Given the description of an element on the screen output the (x, y) to click on. 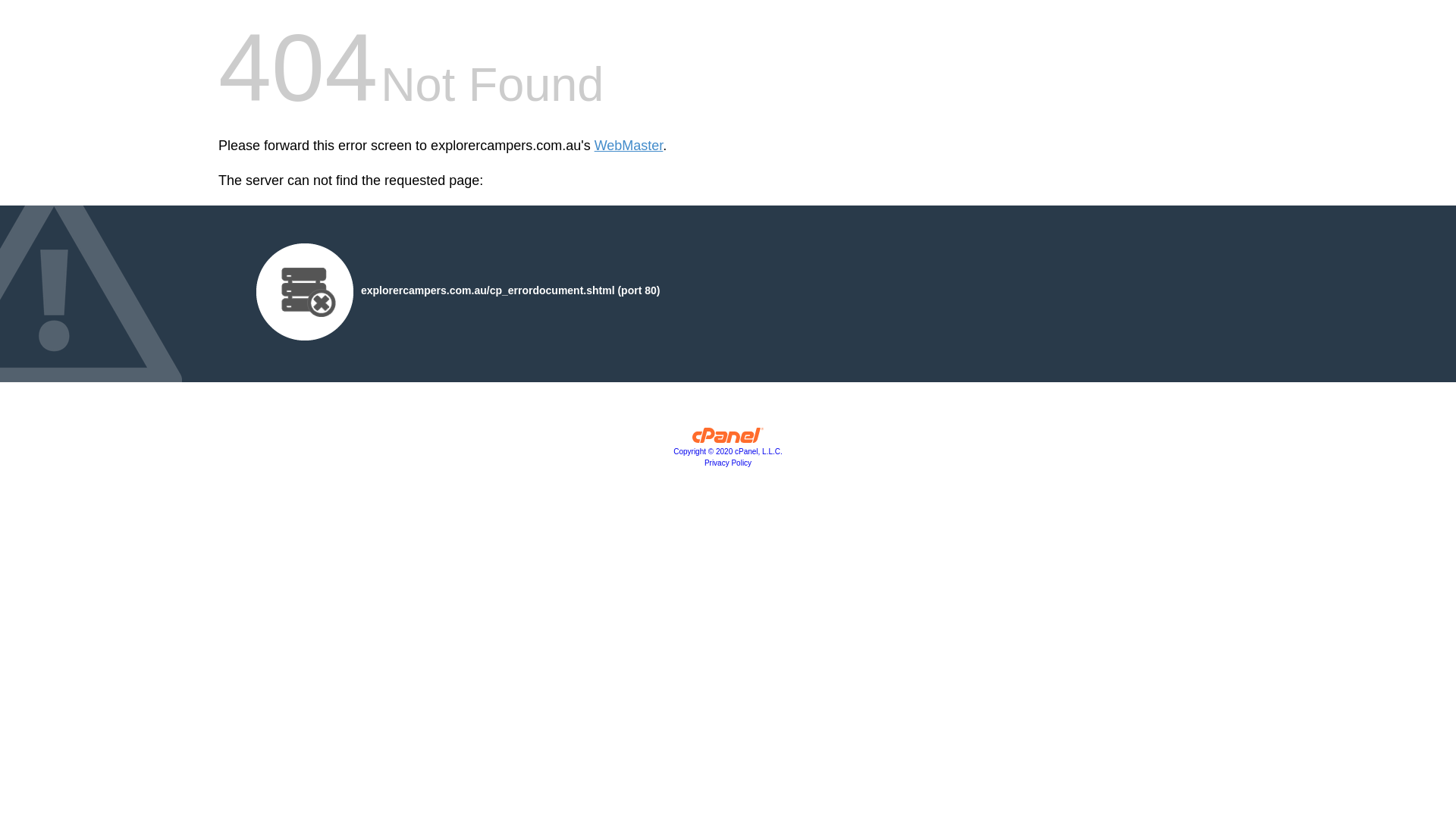
WebMaster Element type: text (628, 145)
cPanel, Inc. Element type: hover (728, 439)
Privacy Policy Element type: text (727, 462)
